Given the description of an element on the screen output the (x, y) to click on. 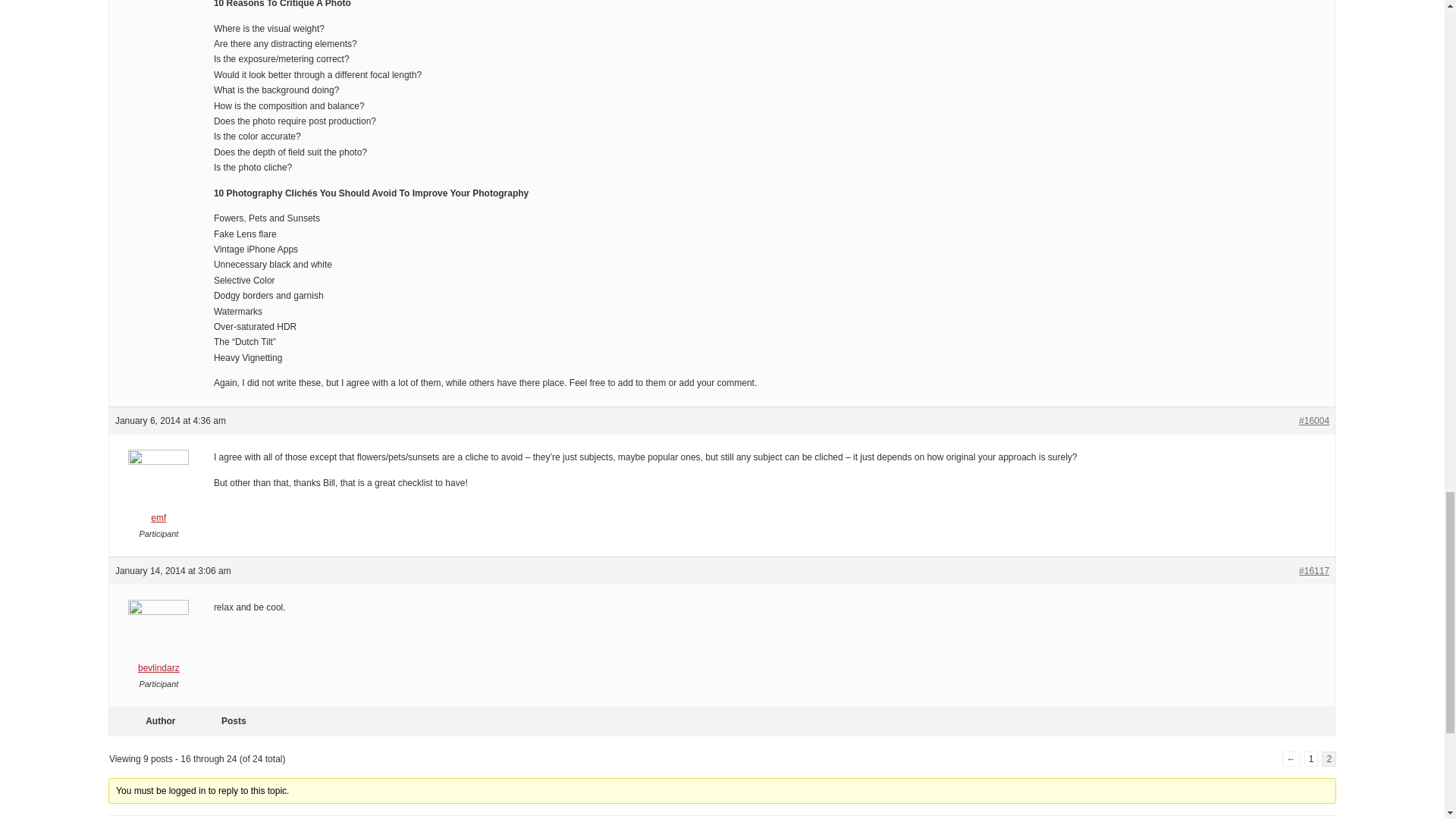
emf (158, 490)
View bevlindarz's profile (158, 640)
1 (1311, 758)
View emf's profile (158, 490)
bevlindarz (158, 640)
